Given the description of an element on the screen output the (x, y) to click on. 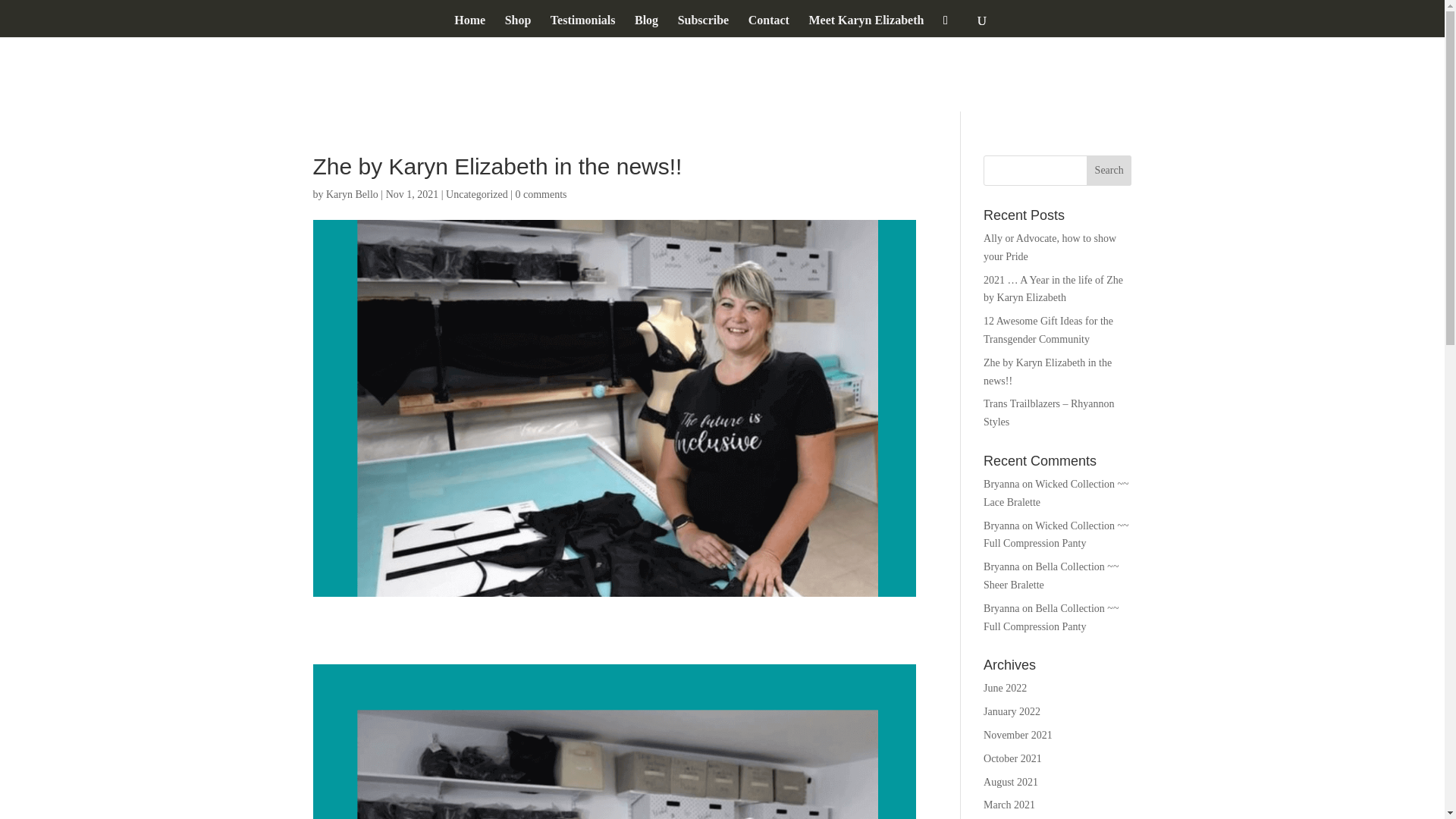
Search (1109, 170)
Contact (768, 25)
January 2022 (1012, 711)
Subscribe (703, 25)
August 2021 (1011, 781)
Meet Karyn Elizabeth (865, 25)
Home (469, 25)
March 2021 (1009, 804)
Uncategorized (476, 194)
Zhe by Karyn Elizabeth in the news!! (1048, 371)
